Given the description of an element on the screen output the (x, y) to click on. 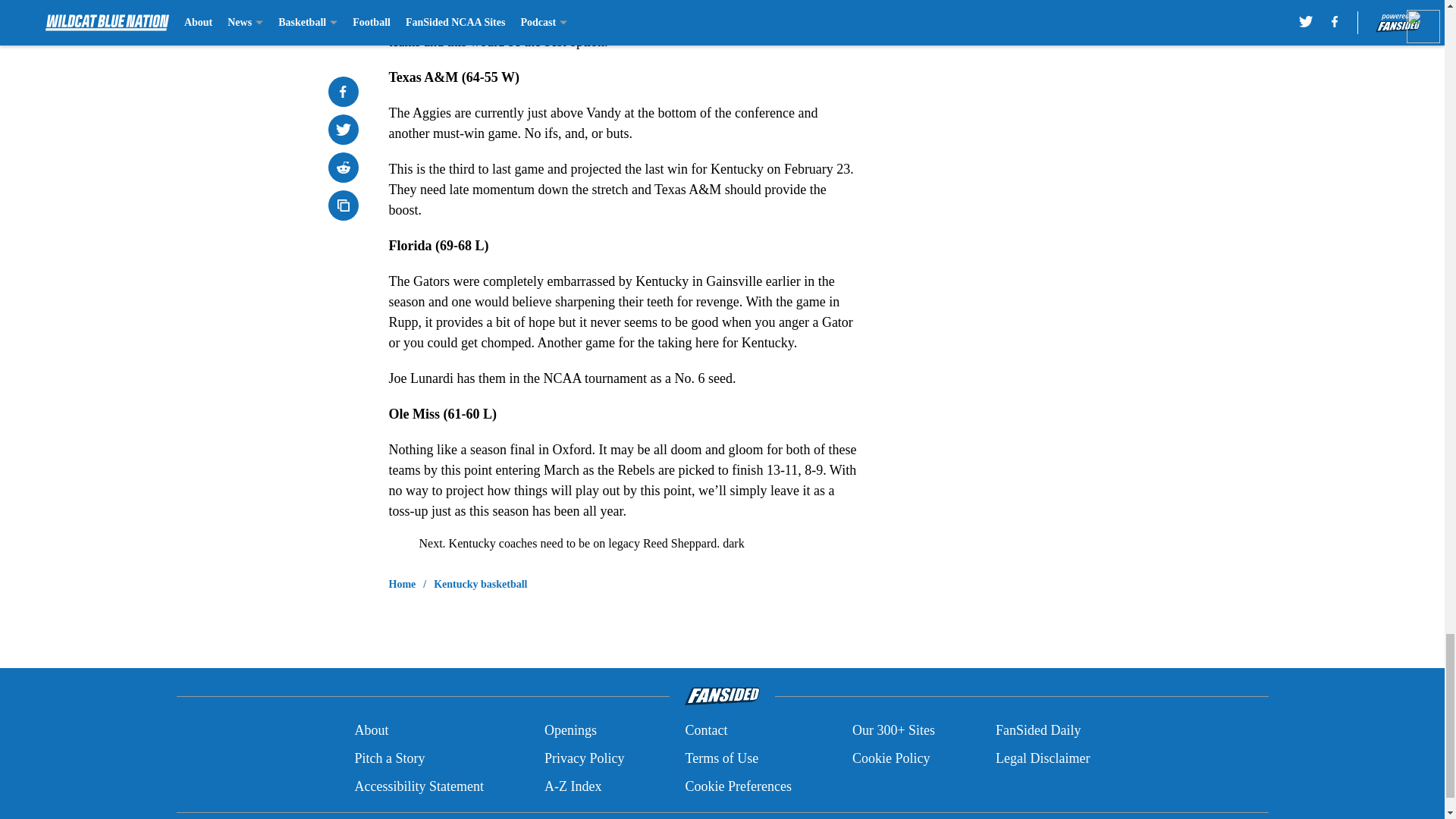
Contact (705, 730)
Kentucky basketball (480, 584)
Cookie Policy (890, 758)
About (370, 730)
Openings (570, 730)
Legal Disclaimer (1042, 758)
Terms of Use (721, 758)
Privacy Policy (584, 758)
Pitch a Story (389, 758)
FanSided Daily (1038, 730)
